Given the description of an element on the screen output the (x, y) to click on. 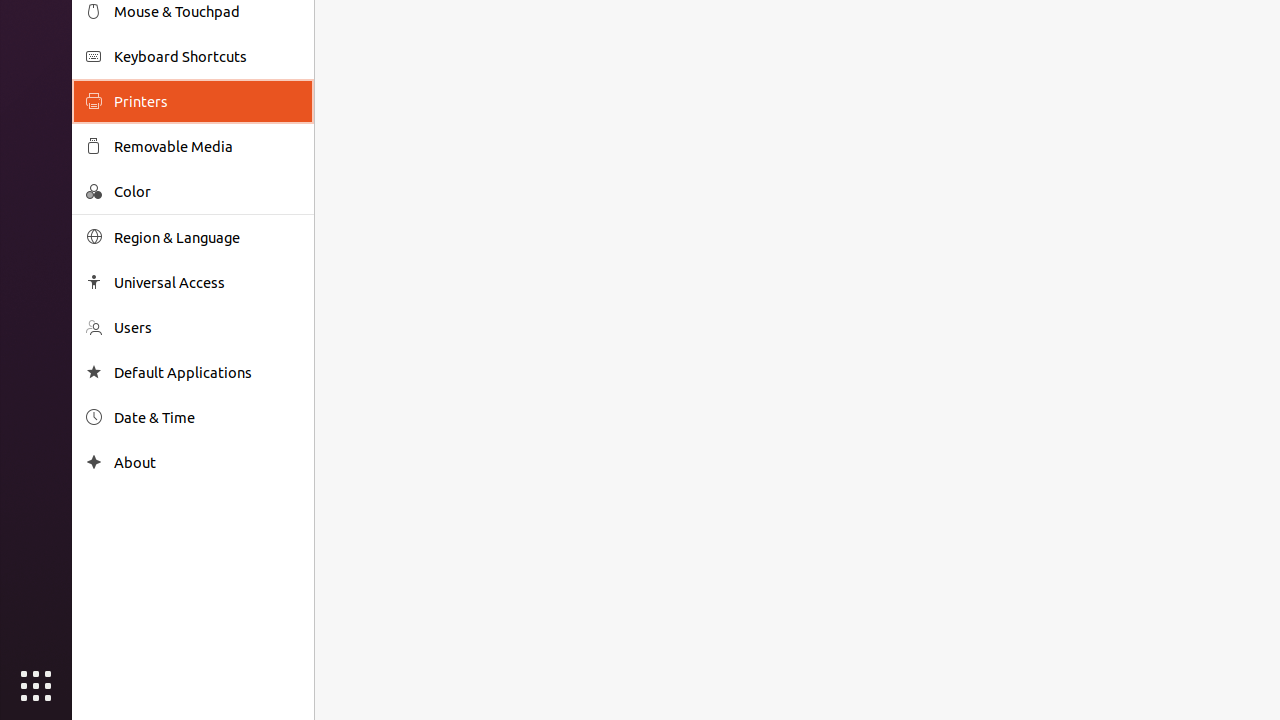
Mouse & Touchpad Element type: label (207, 11)
Removable Media Element type: label (207, 146)
Region & Language Element type: label (207, 237)
About Element type: label (207, 462)
About Element type: icon (94, 462)
